Given the description of an element on the screen output the (x, y) to click on. 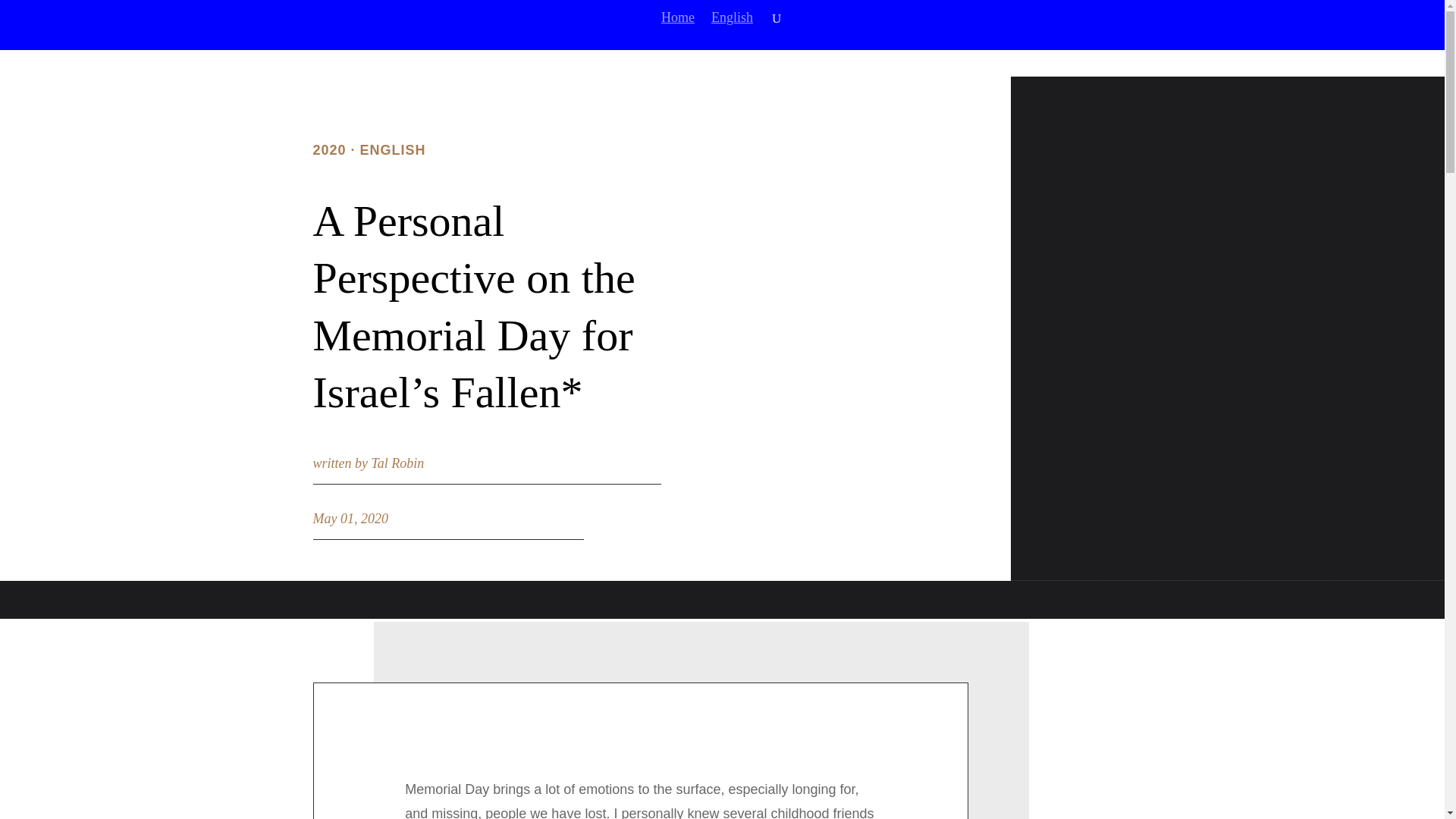
Tal Robin (398, 462)
English (731, 30)
ENGLISH (392, 150)
2020 (329, 150)
